Given the description of an element on the screen output the (x, y) to click on. 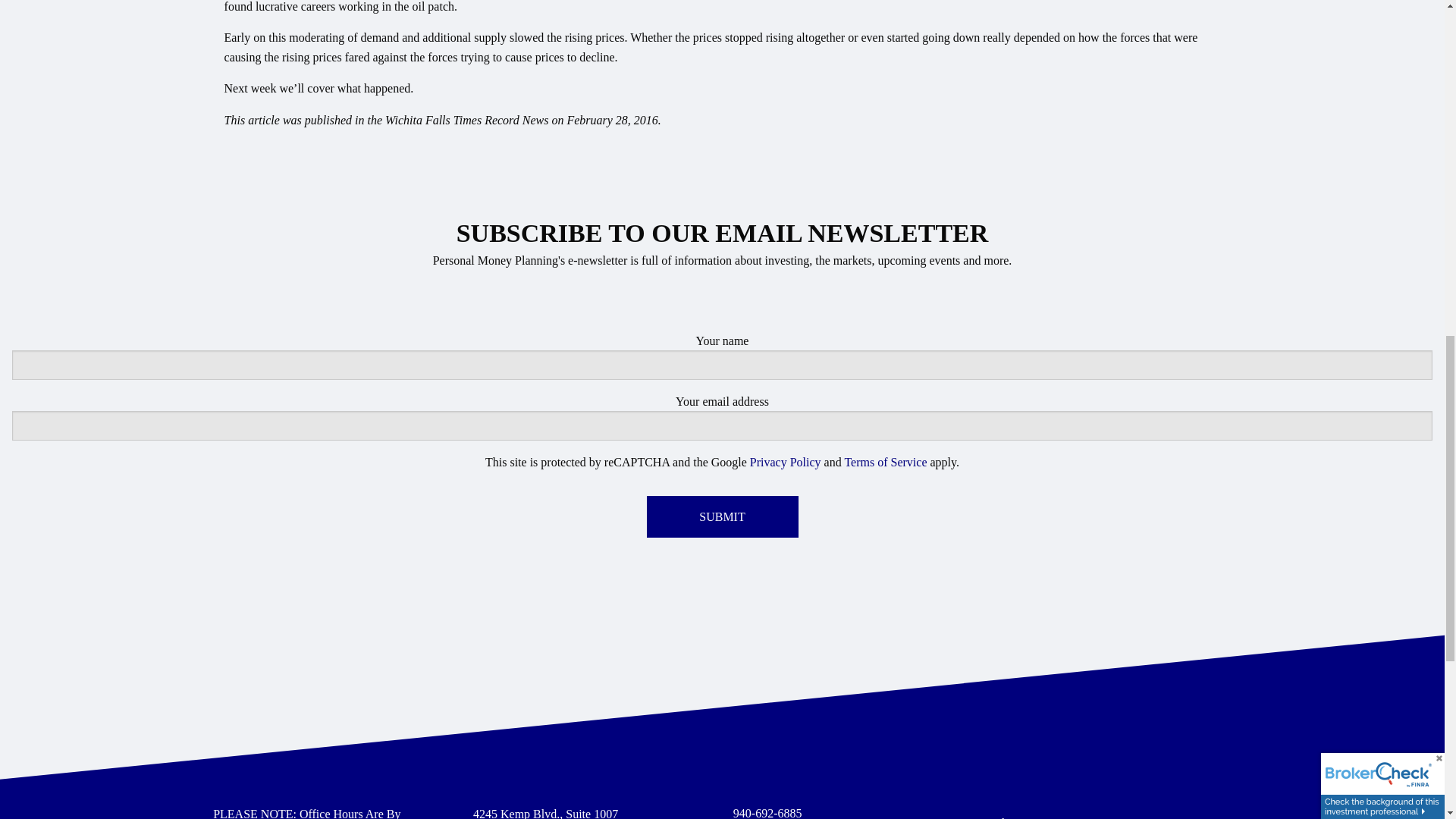
Privacy Policy (785, 461)
Terms of Service (885, 461)
Submit (721, 516)
Submit (721, 516)
